Given the description of an element on the screen output the (x, y) to click on. 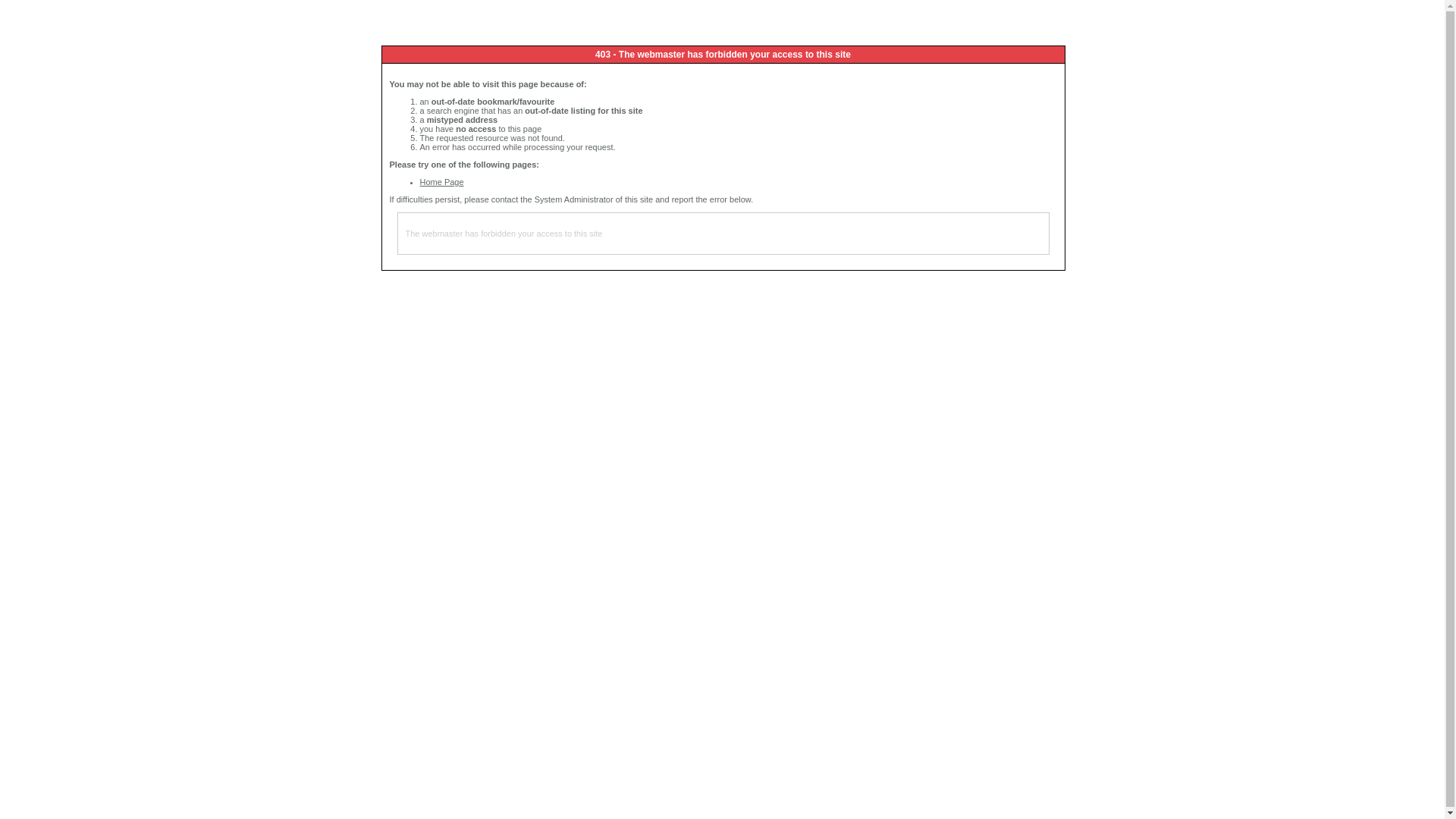
Home Page Element type: text (442, 181)
